Given the description of an element on the screen output the (x, y) to click on. 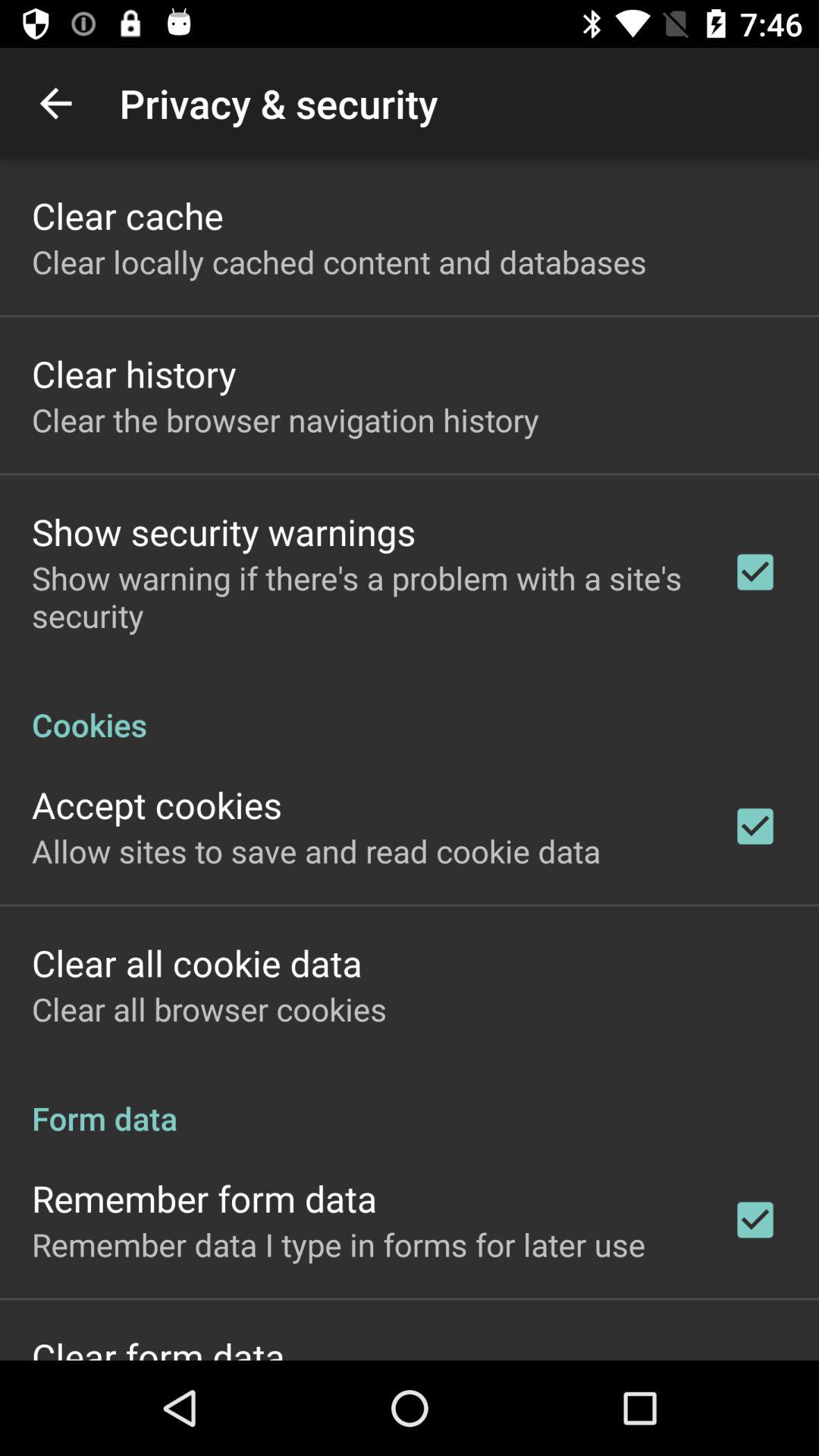
click clear locally cached app (338, 261)
